Given the description of an element on the screen output the (x, y) to click on. 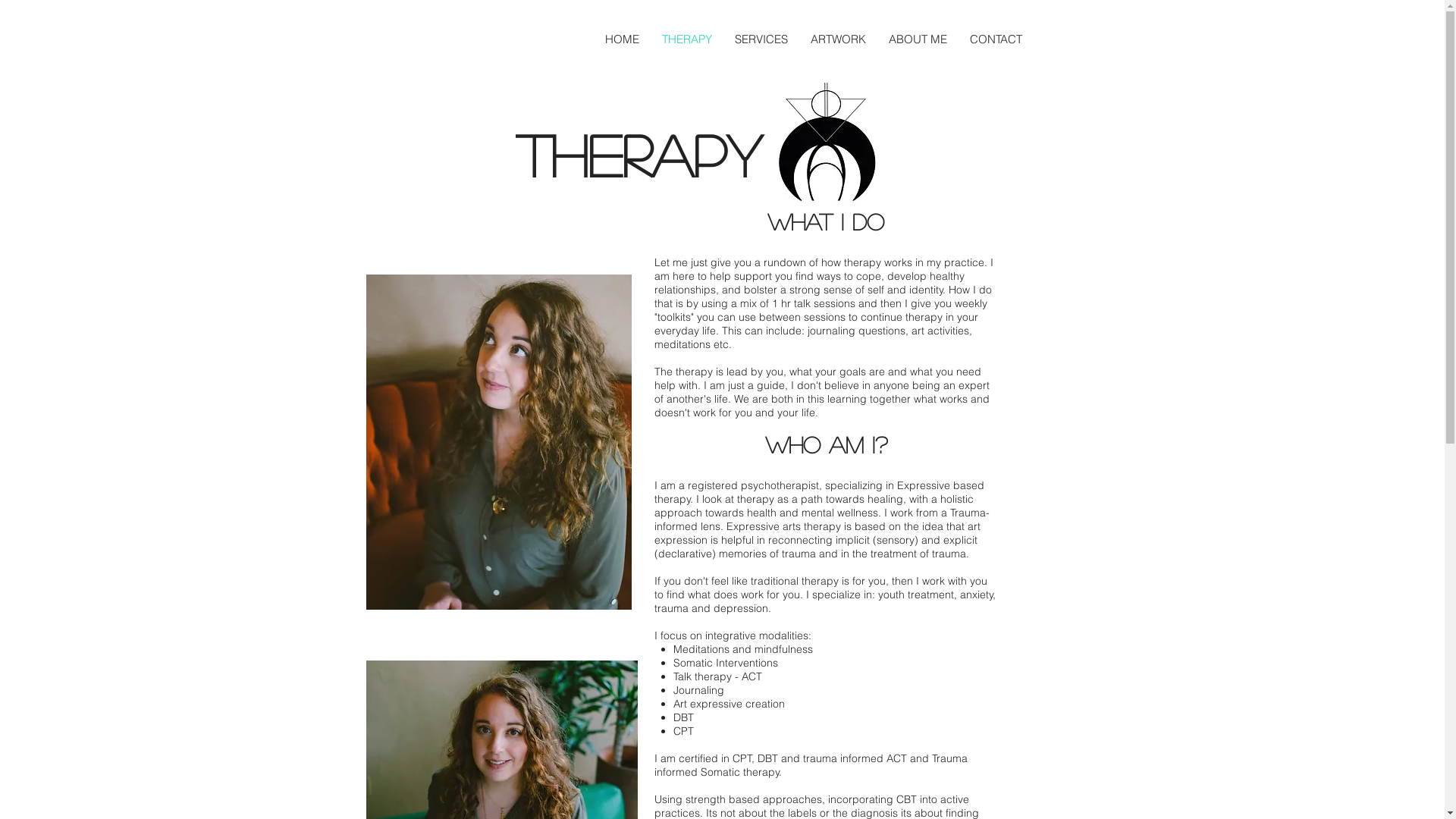
HOME Element type: text (621, 38)
SERVICES Element type: text (761, 38)
CONTACT Element type: text (995, 38)
Photo 2021-09-07, 9 11 54 PM_edited.jpg Element type: hover (497, 441)
THERAPY Element type: text (686, 38)
ARTWORK Element type: text (838, 38)
ABOUT ME Element type: text (916, 38)
